Given the description of an element on the screen output the (x, y) to click on. 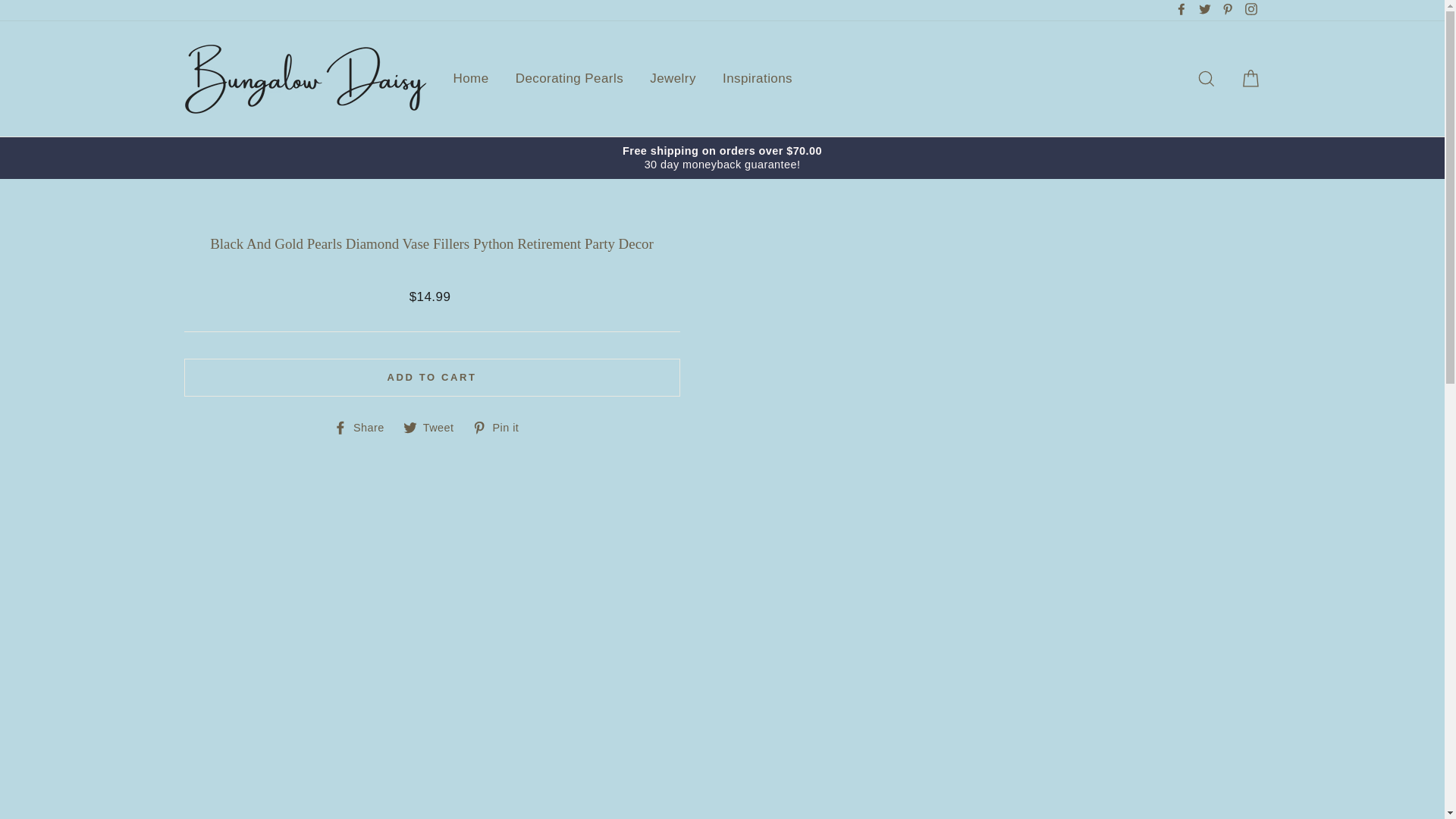
Twitter (1204, 10)
Instagram (1250, 10)
Bungalow Daisy on Twitter (1204, 10)
Pin on Pinterest (500, 427)
Share on Facebook (364, 427)
Bungalow Daisy on Instagram (1250, 10)
Decorating Pearls (568, 79)
Facebook (1181, 10)
Bungalow Daisy on Pinterest (1227, 10)
